Given the description of an element on the screen output the (x, y) to click on. 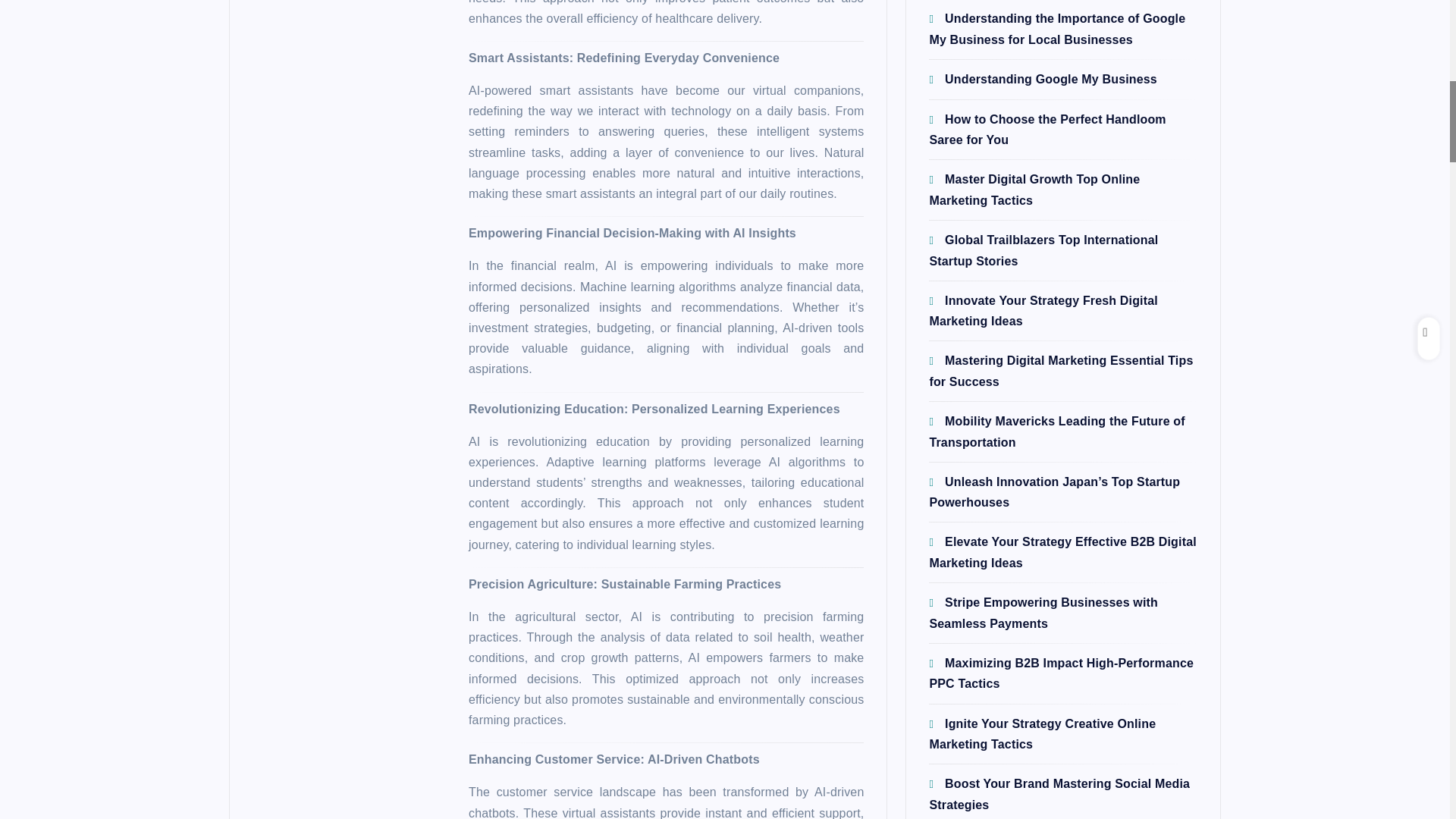
Understanding Google My Business (1042, 78)
